Given the description of an element on the screen output the (x, y) to click on. 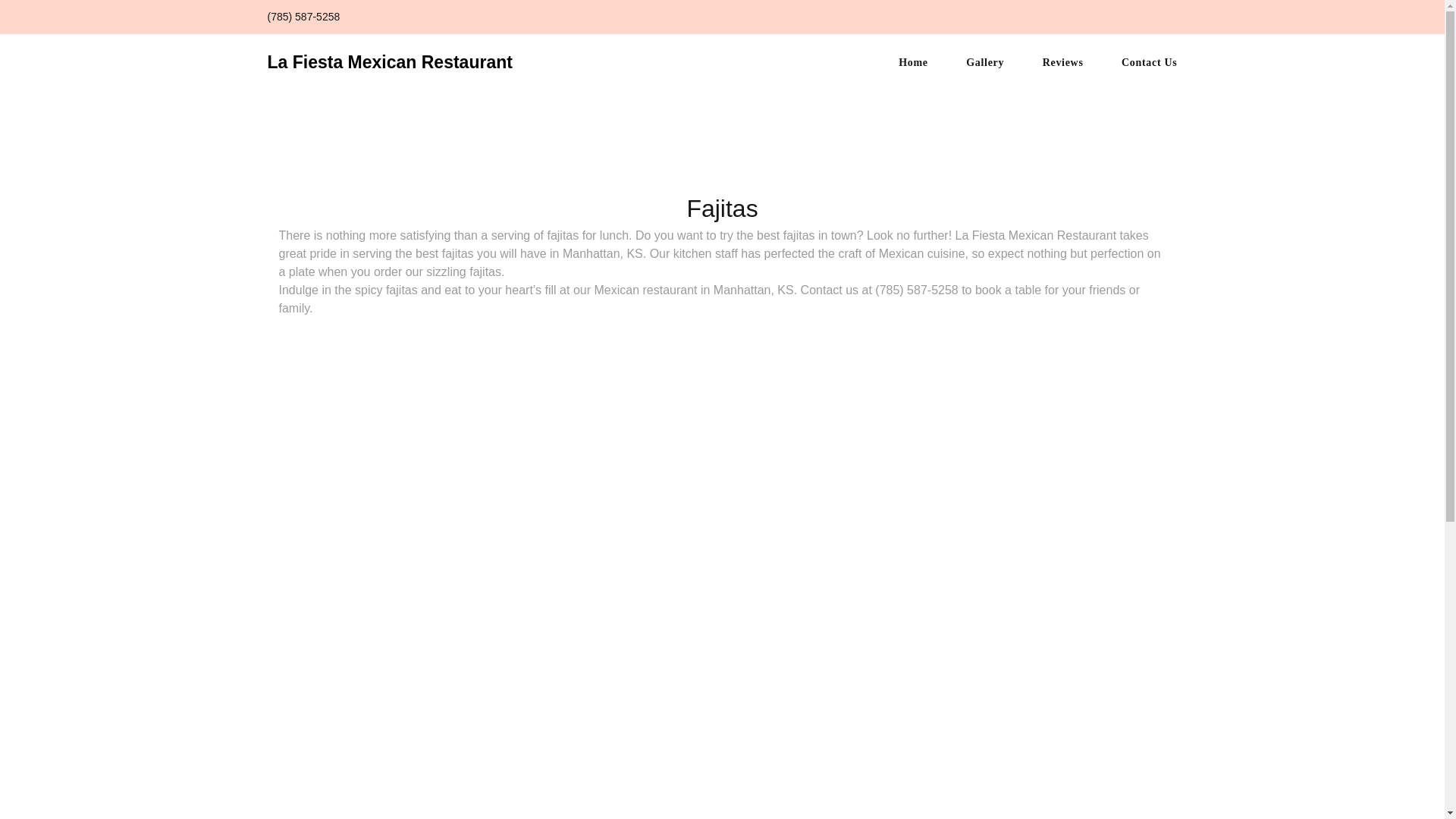
Home (913, 62)
La Fiesta Mexican Restaurant (389, 62)
Reviews (1062, 62)
Gallery (985, 62)
Contact Us (1149, 62)
